Given the description of an element on the screen output the (x, y) to click on. 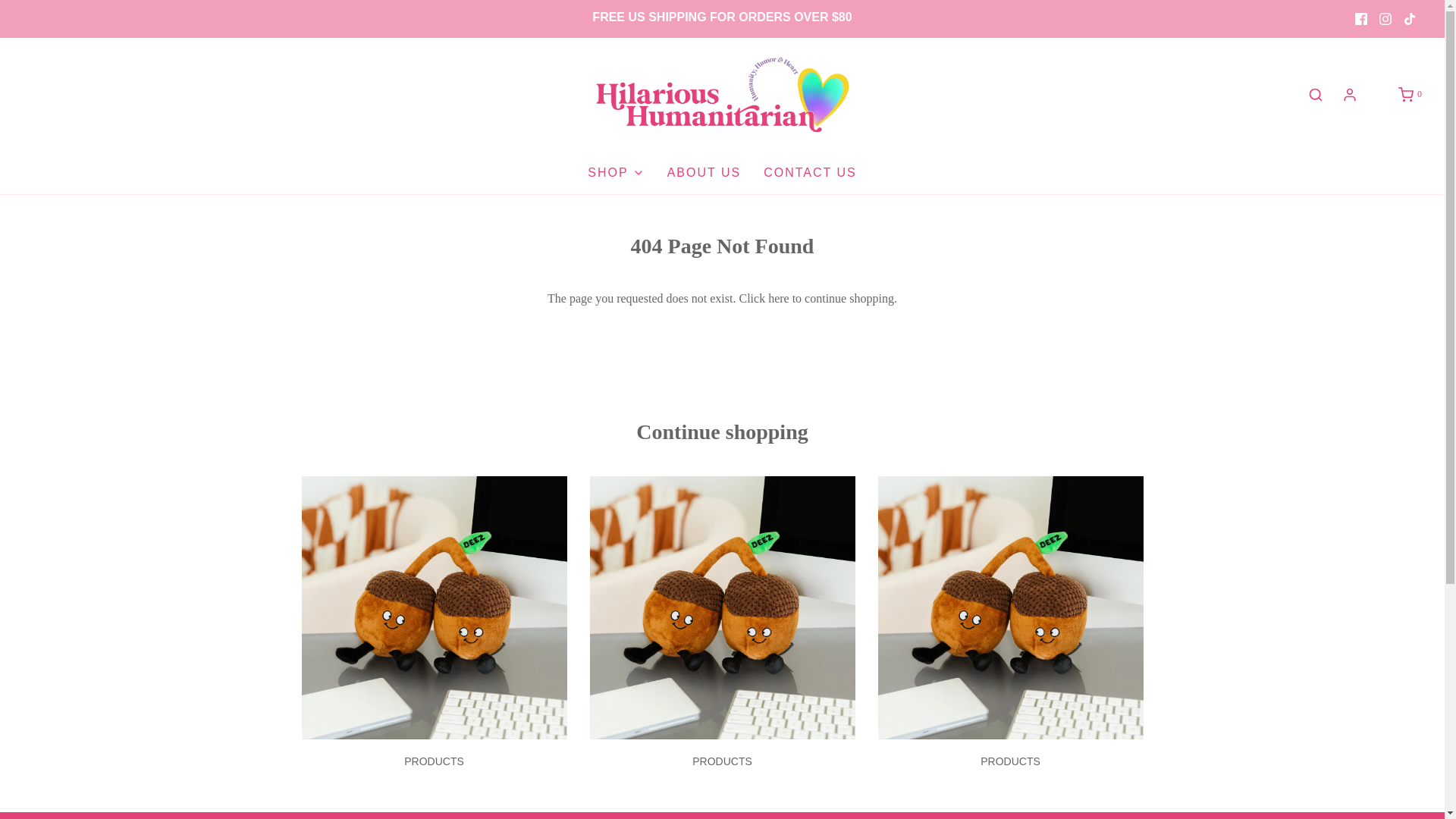
Instagram icon (1385, 18)
Instagram icon (1384, 19)
Facebook icon (1361, 18)
TikTok icon (1409, 18)
Facebook icon (1361, 19)
Log in (1349, 94)
Cart (1409, 94)
Search (1315, 94)
TikTok icon (1409, 19)
